Given the description of an element on the screen output the (x, y) to click on. 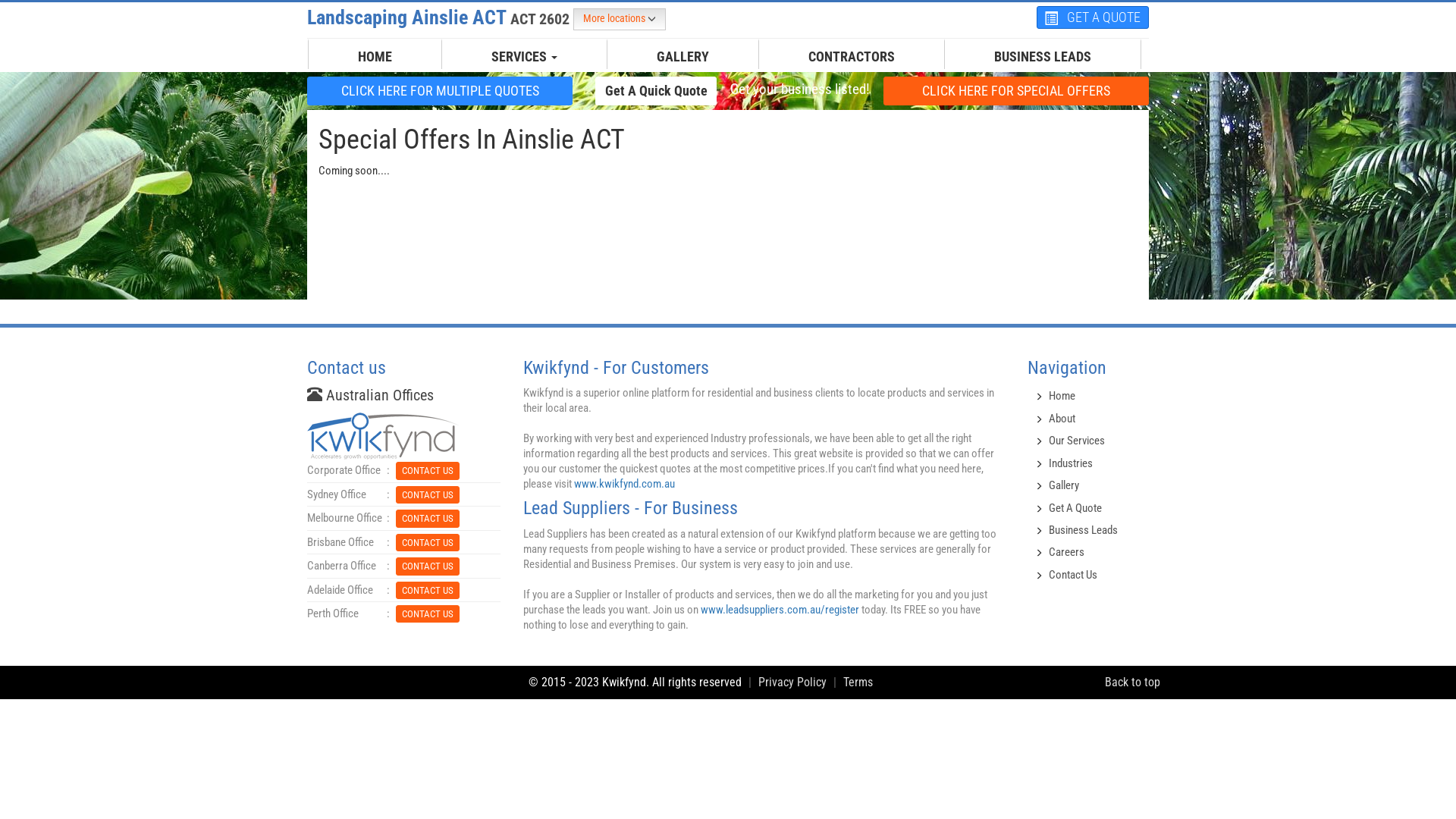
SERVICES Element type: text (524, 56)
Get A Quick Quote Element type: text (655, 90)
CONTACT US Element type: text (427, 470)
More locations Element type: text (619, 19)
CLICK HERE FOR MULTIPLE QUOTES Element type: text (439, 90)
GALLERY Element type: text (682, 56)
www.leadsuppliers.com.au/register Element type: text (779, 609)
Gallery Element type: text (1063, 485)
www.kwikfynd.com.au Element type: text (624, 483)
CONTACT US Element type: text (427, 494)
Get A Quick Quote Element type: text (655, 90)
CONTACT US Element type: text (427, 590)
GET A QUOTE Element type: text (1092, 17)
CLICK HERE FOR SPECIAL OFFERS Element type: text (1015, 90)
CONTACT US Element type: text (427, 541)
CONTACT US Element type: text (427, 565)
CLICK HERE FOR SPECIAL OFFERS Element type: text (1015, 90)
Terms Element type: text (857, 681)
CONTACT US Element type: text (427, 613)
CONTRACTORS Element type: text (851, 56)
Home Element type: text (1061, 395)
Contact Us Element type: text (1072, 574)
Industries Element type: text (1070, 463)
CONTACT US Element type: text (427, 517)
CONTACT US Element type: text (427, 542)
Back to top Element type: text (1132, 681)
Our Services Element type: text (1076, 440)
Privacy Policy Element type: text (792, 681)
Business Leads Element type: text (1082, 529)
Careers Element type: text (1066, 551)
CONTACT US Element type: text (427, 612)
Landscaping Ainslie ACT ACT 2602 Element type: text (440, 17)
CLICK HERE FOR MULTIPLE QUOTES Element type: text (439, 90)
About Element type: text (1061, 418)
Get your business listed! Element type: text (800, 89)
CONTACT US Element type: text (427, 565)
Get A Quote Element type: text (1074, 507)
CONTACT US Element type: text (427, 589)
BUSINESS LEADS Element type: text (1042, 56)
CONTACT US Element type: text (427, 518)
CONTACT US Element type: text (427, 493)
HOME Element type: text (374, 56)
CONTACT US Element type: text (427, 469)
